Given the description of an element on the screen output the (x, y) to click on. 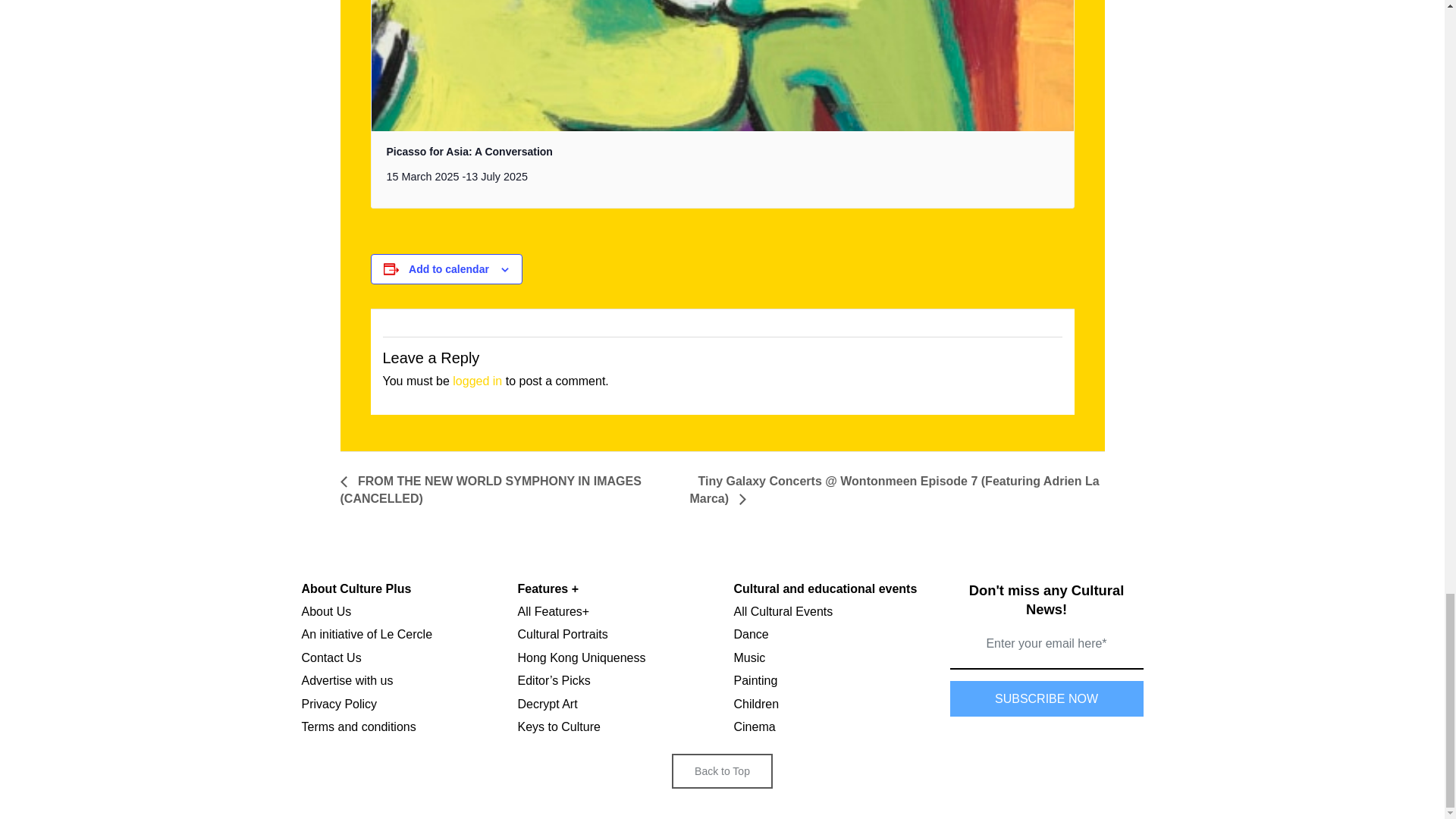
Add to calendar (449, 268)
logged in (477, 380)
Picasso for Asia: A Conversation (470, 151)
About Us (326, 611)
Subscribe Now (1045, 698)
Back to Top (721, 785)
